Given the description of an element on the screen output the (x, y) to click on. 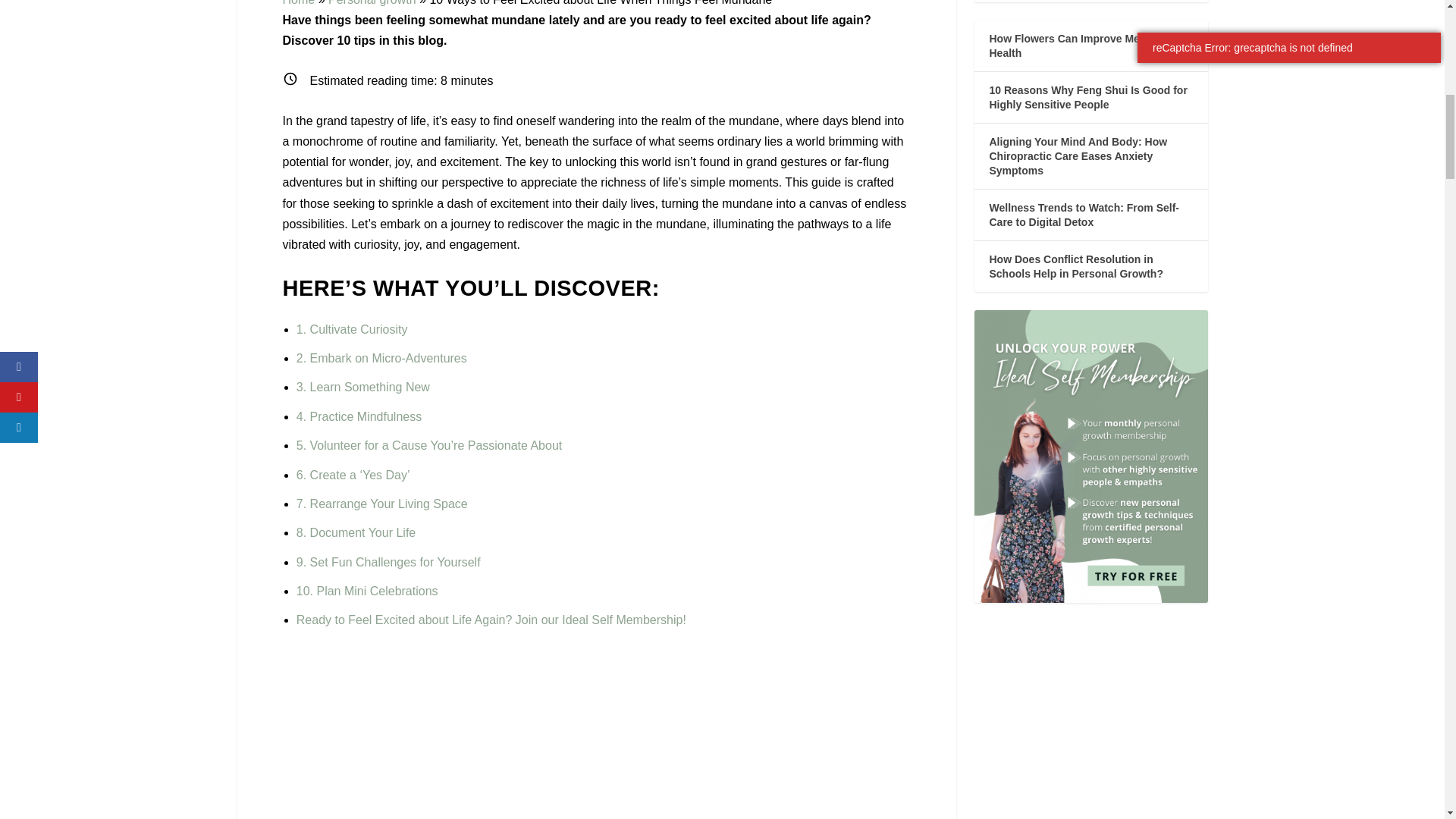
Home (298, 2)
4. Practice Mindfulness (359, 416)
9. Set Fun Challenges for Yourself (388, 562)
2. Embark on Micro-Adventures (382, 358)
10. Plan Mini Celebrations (367, 590)
1. Cultivate Curiosity (352, 328)
Personal growth (372, 2)
8. Document Your Life (355, 532)
7. Rearrange Your Living Space (382, 503)
3. Learn Something New (363, 386)
